Given the description of an element on the screen output the (x, y) to click on. 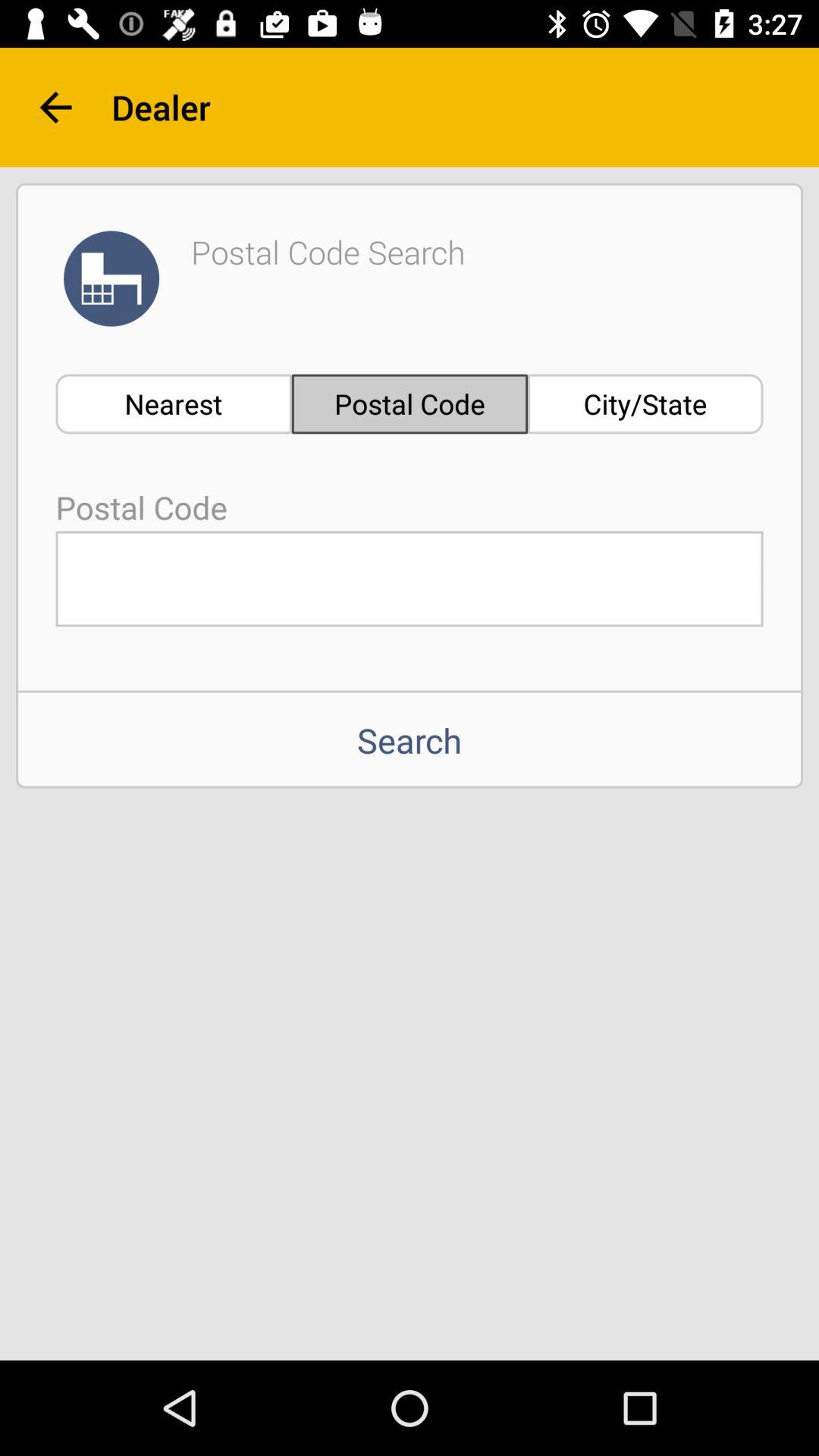
scroll until nearest item (173, 403)
